Given the description of an element on the screen output the (x, y) to click on. 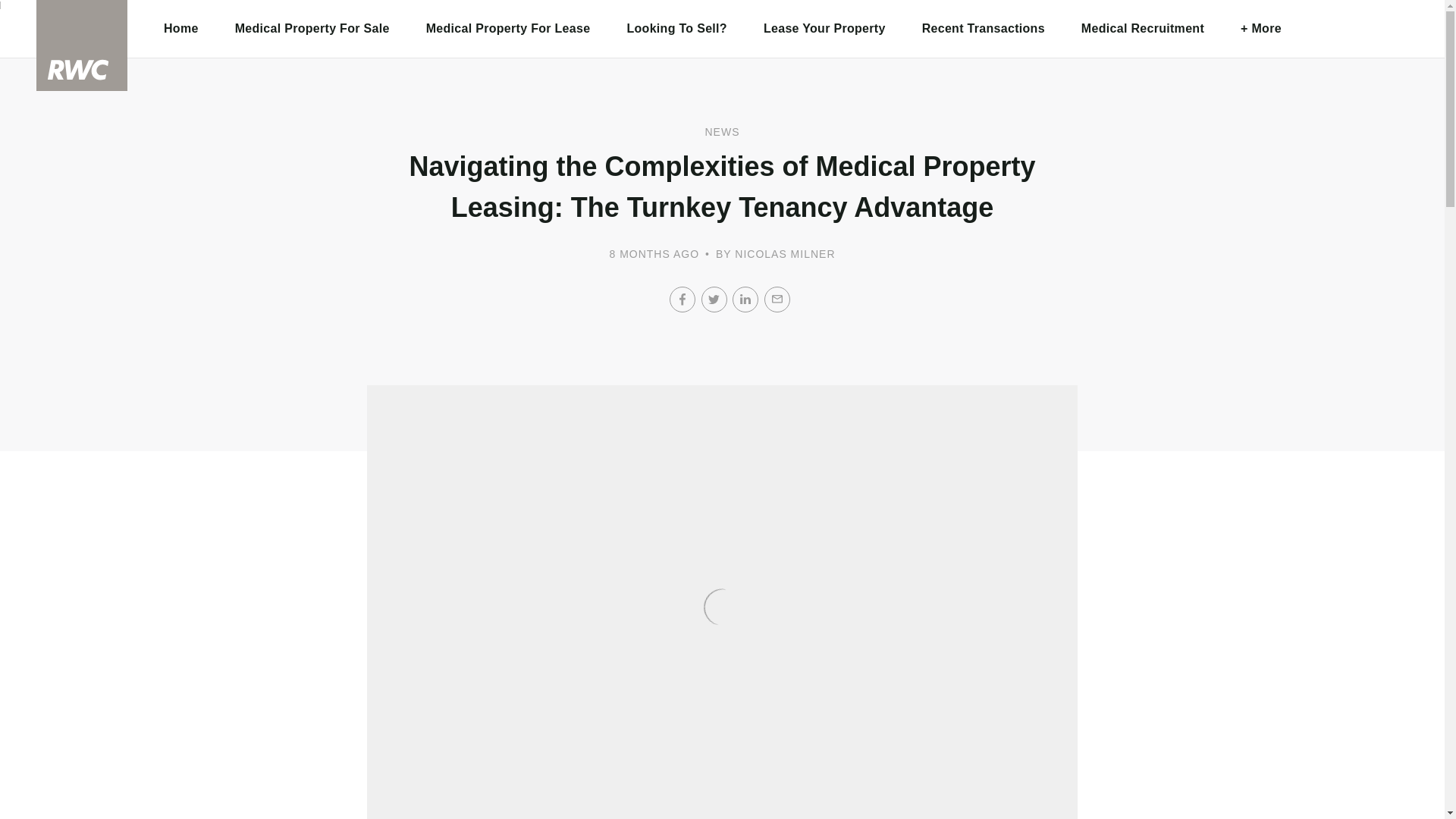
Medical Recruitment (1142, 28)
Looking To Sell? (676, 28)
LinkedIn (745, 299)
Lease Your Property (824, 28)
Medical Property For Lease (507, 28)
Email (777, 299)
Recent Transactions (983, 28)
Home (180, 28)
Twitter (713, 299)
Medical Property For Sale (311, 28)
